Given the description of an element on the screen output the (x, y) to click on. 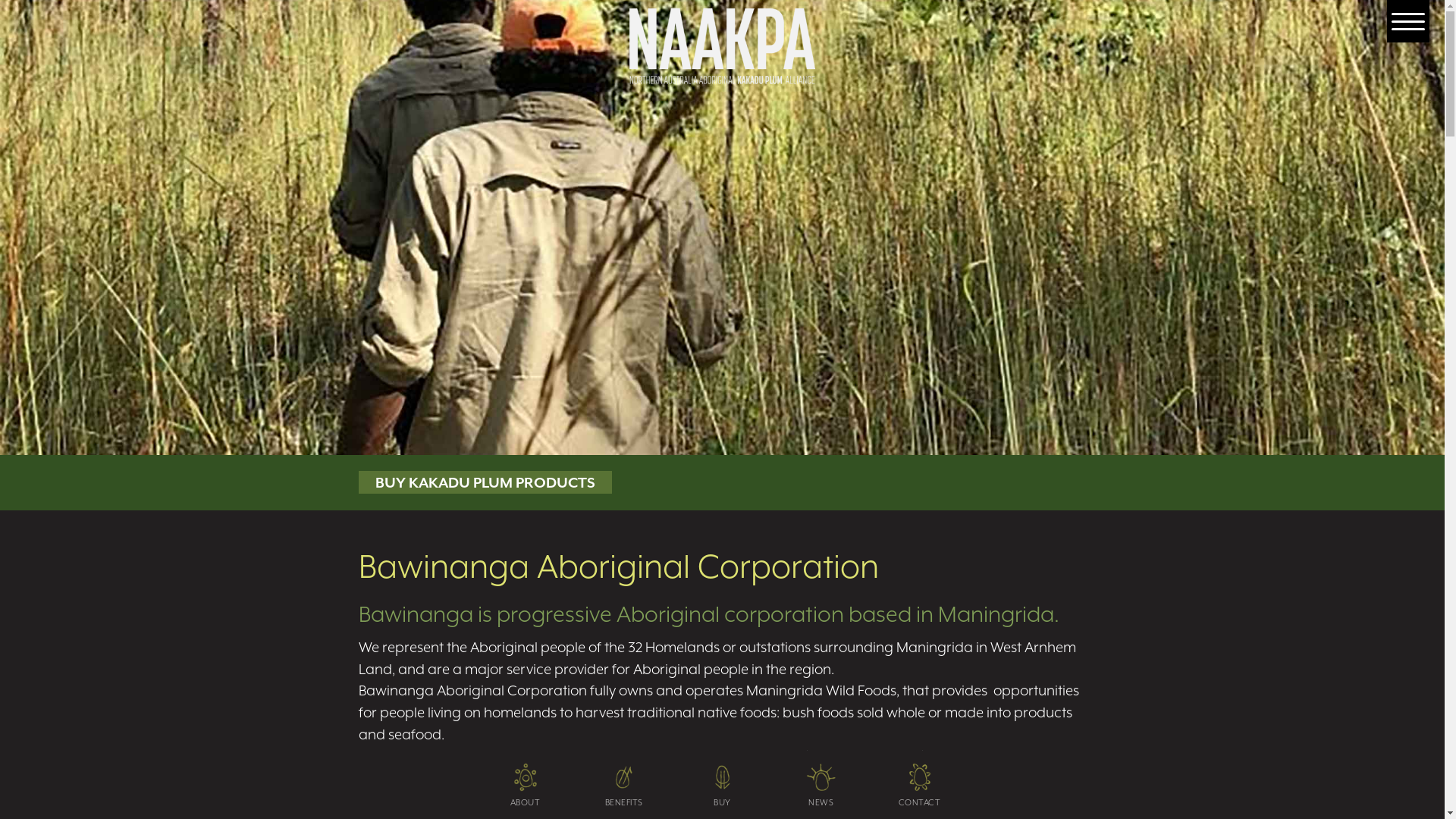
BUY KAKADU PLUM PRODUCTS Element type: text (484, 482)
